Given the description of an element on the screen output the (x, y) to click on. 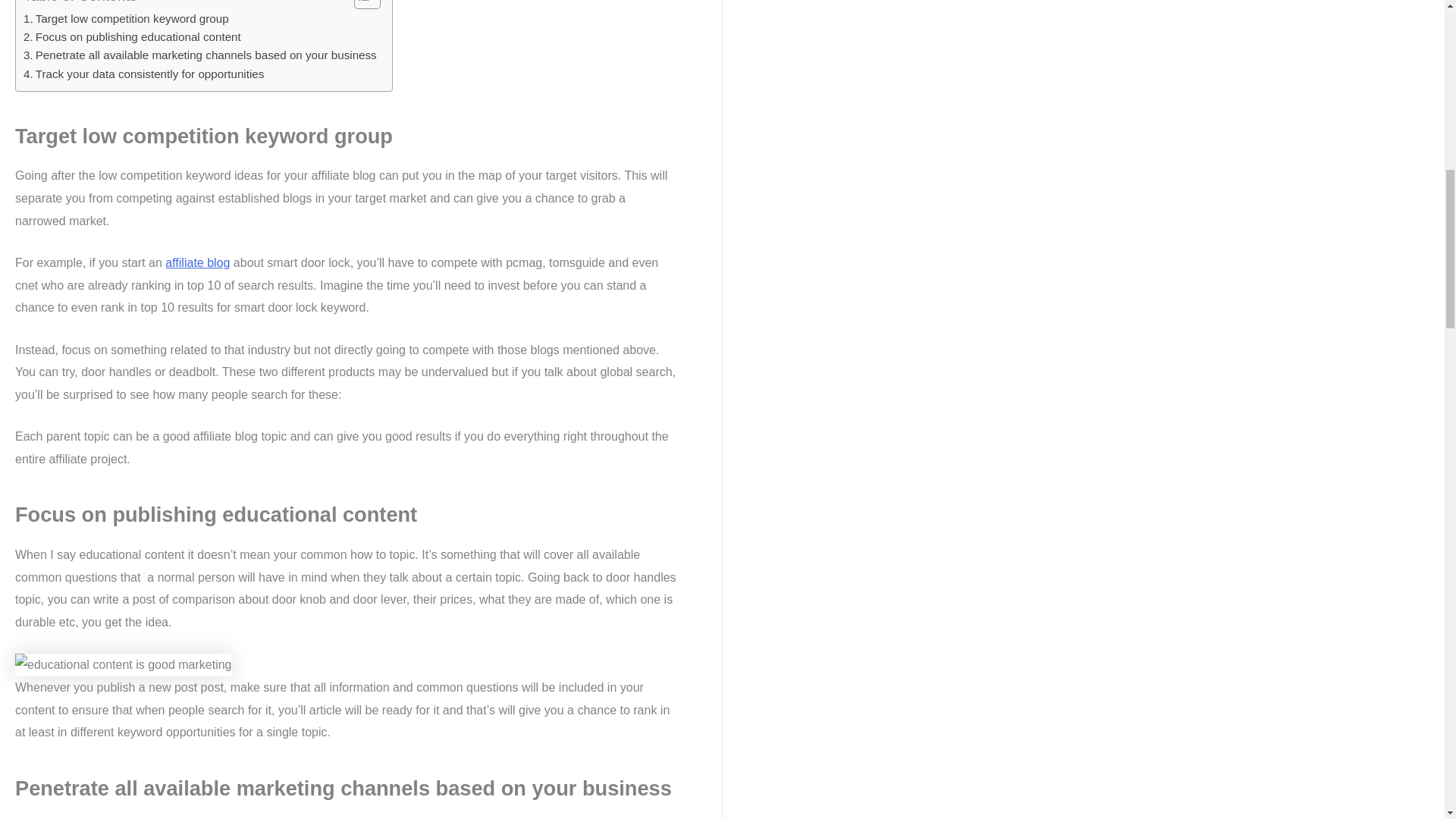
affiliate blog (197, 262)
Focus on publishing educational content (132, 36)
Track your data consistently for opportunities (143, 74)
Target low competition keyword group (125, 18)
Track your data consistently for opportunities (143, 74)
Focus on publishing educational content (132, 36)
Target low competition keyword group (125, 18)
